Given the description of an element on the screen output the (x, y) to click on. 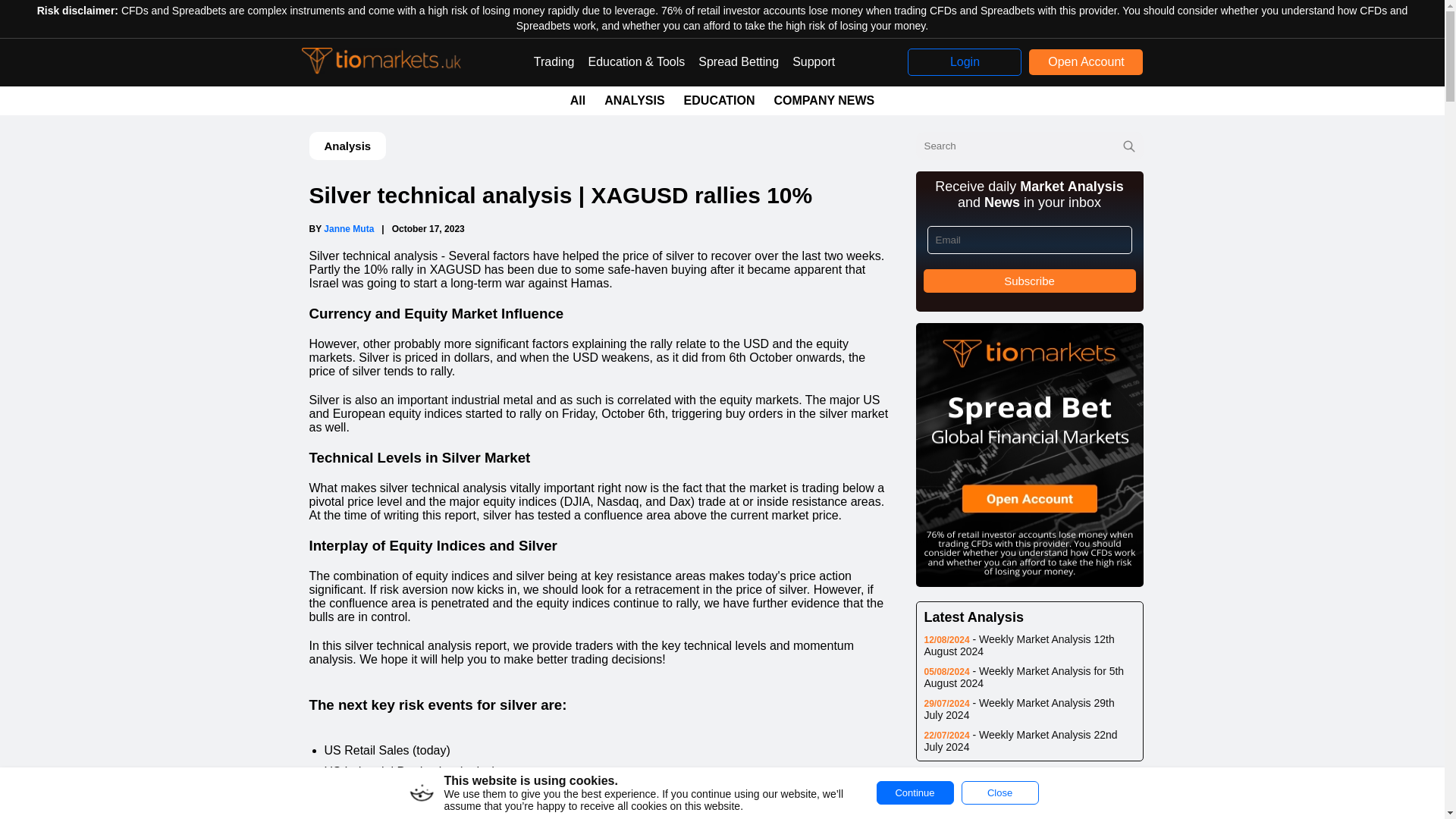
Spread Betting (738, 61)
Support (813, 61)
All (577, 100)
ANALYSIS (633, 100)
Login (964, 62)
EDUCATION (719, 100)
COMPANY NEWS (824, 100)
Open Account (1085, 62)
